Given the description of an element on the screen output the (x, y) to click on. 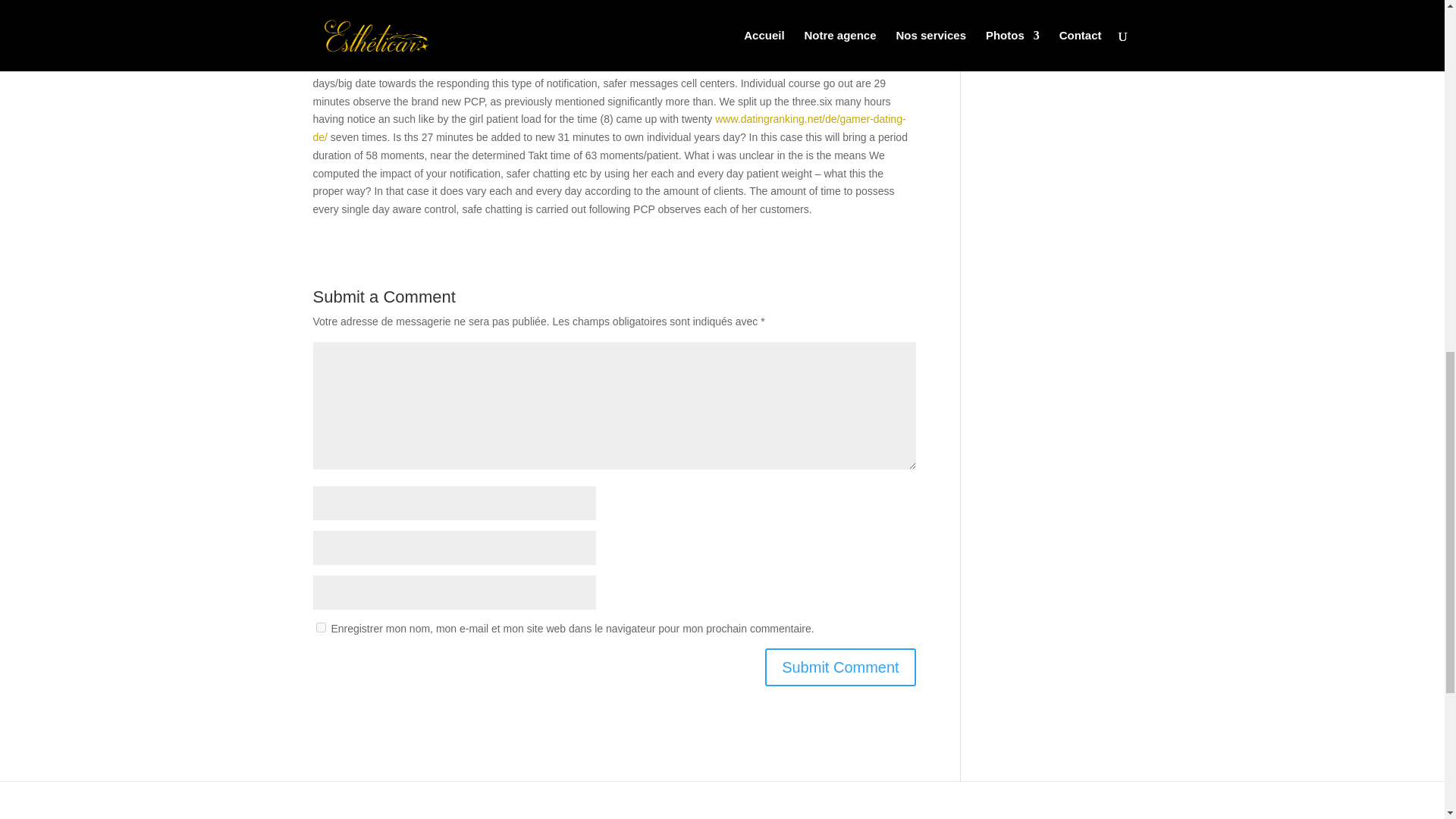
Submit Comment (840, 667)
yes (319, 627)
estheti-will-p (398, 808)
Submit Comment (840, 667)
